Given the description of an element on the screen output the (x, y) to click on. 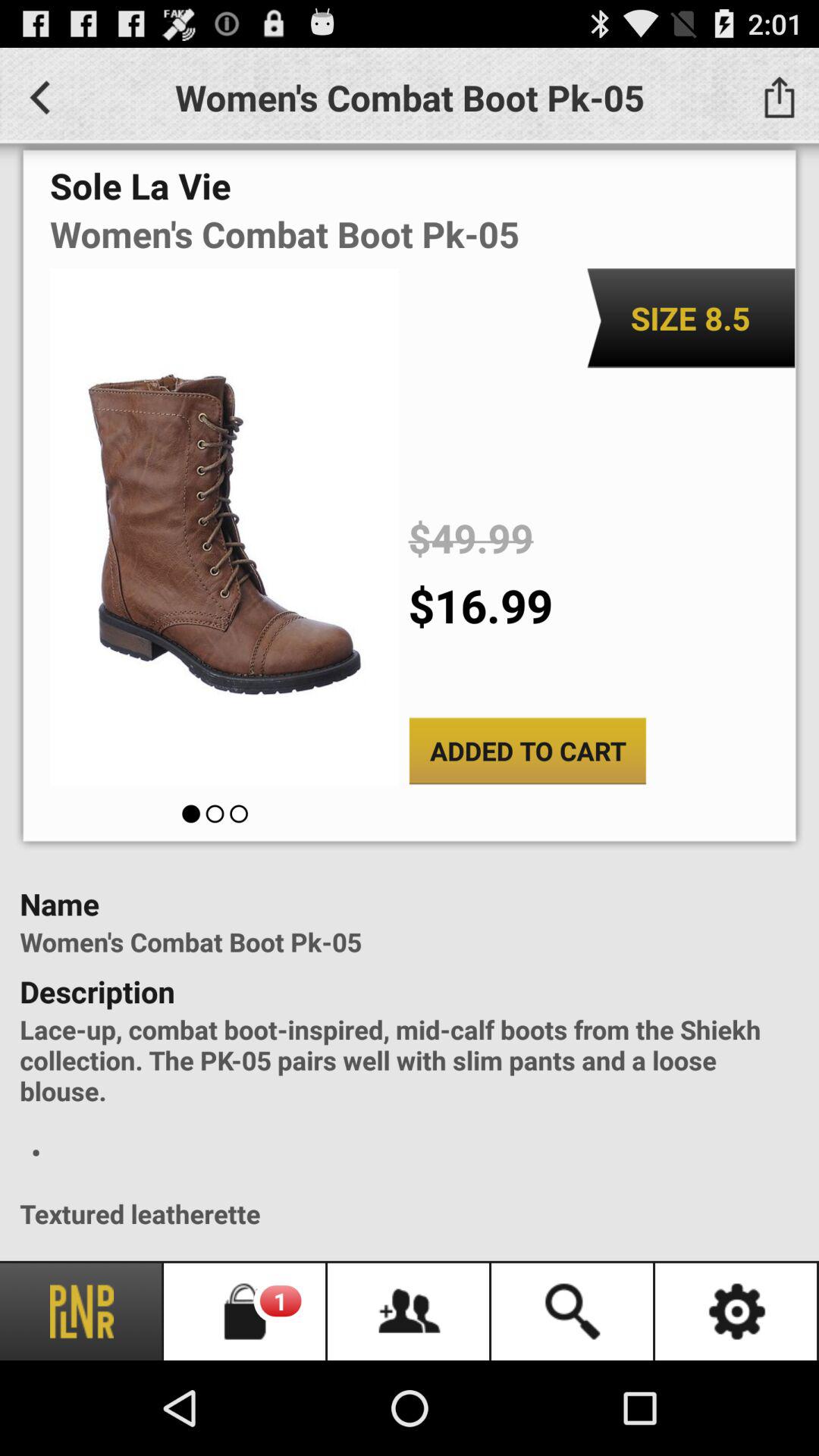
press the added to cart (527, 751)
